Given the description of an element on the screen output the (x, y) to click on. 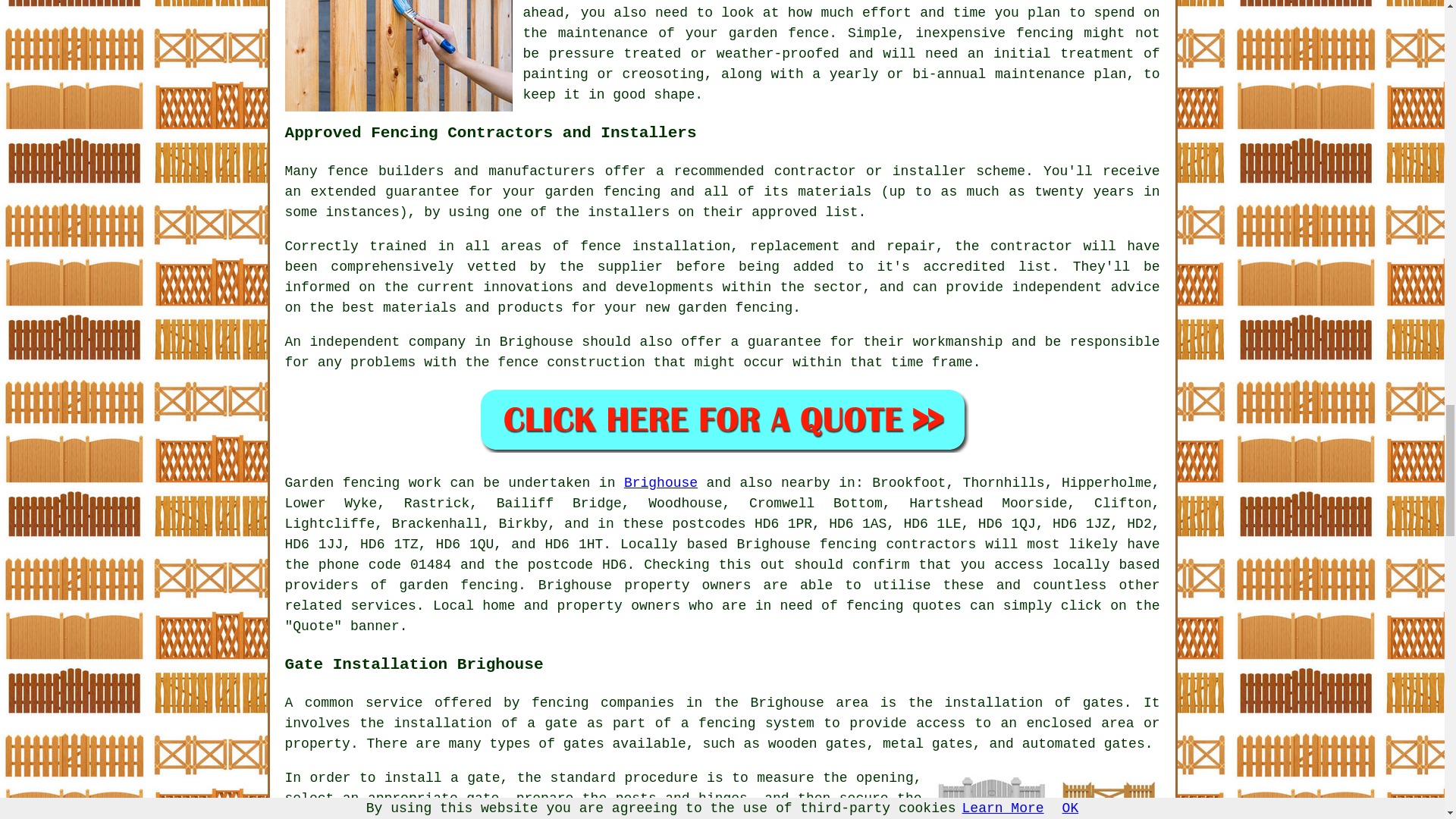
Book Garden Fencing in Brighouse UK (722, 419)
Garden Gate Installation Brighouse (1046, 793)
Garden fencing work (363, 482)
Painting Garden Fencing Brighouse (398, 55)
fencing (848, 544)
garden fencing (458, 585)
